Given the description of an element on the screen output the (x, y) to click on. 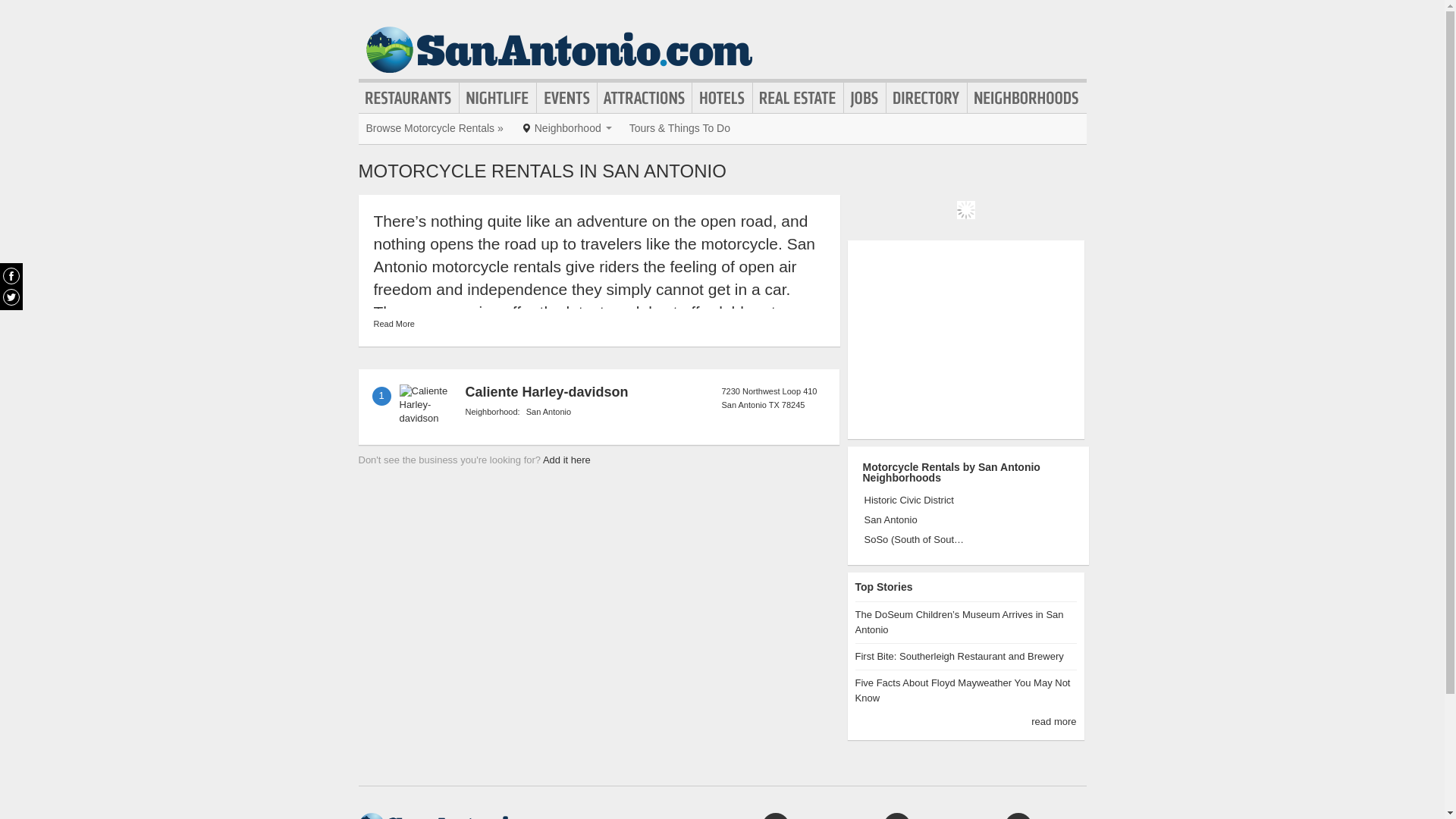
Add your business (775, 816)
San Antonio (914, 520)
List your event (896, 816)
Add it here (567, 460)
Nightlife (497, 97)
Add Your Business (775, 816)
SanAntonio.com on Twitter (11, 297)
San Antonio (547, 411)
Neighborhoods (1027, 97)
Restaurants (408, 97)
